Given the description of an element on the screen output the (x, y) to click on. 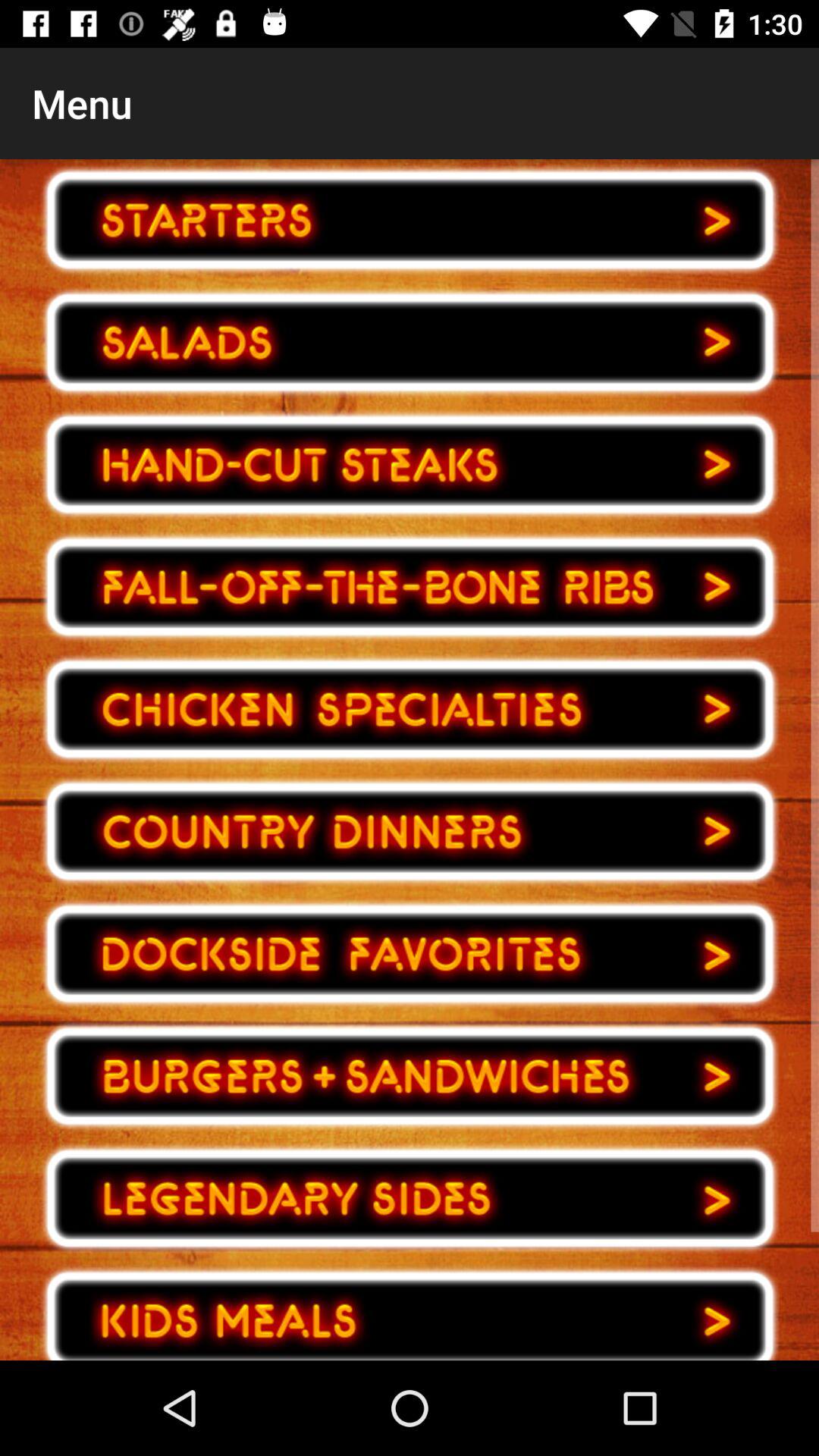
legendary sides arrow pointing to right (409, 1198)
